Given the description of an element on the screen output the (x, y) to click on. 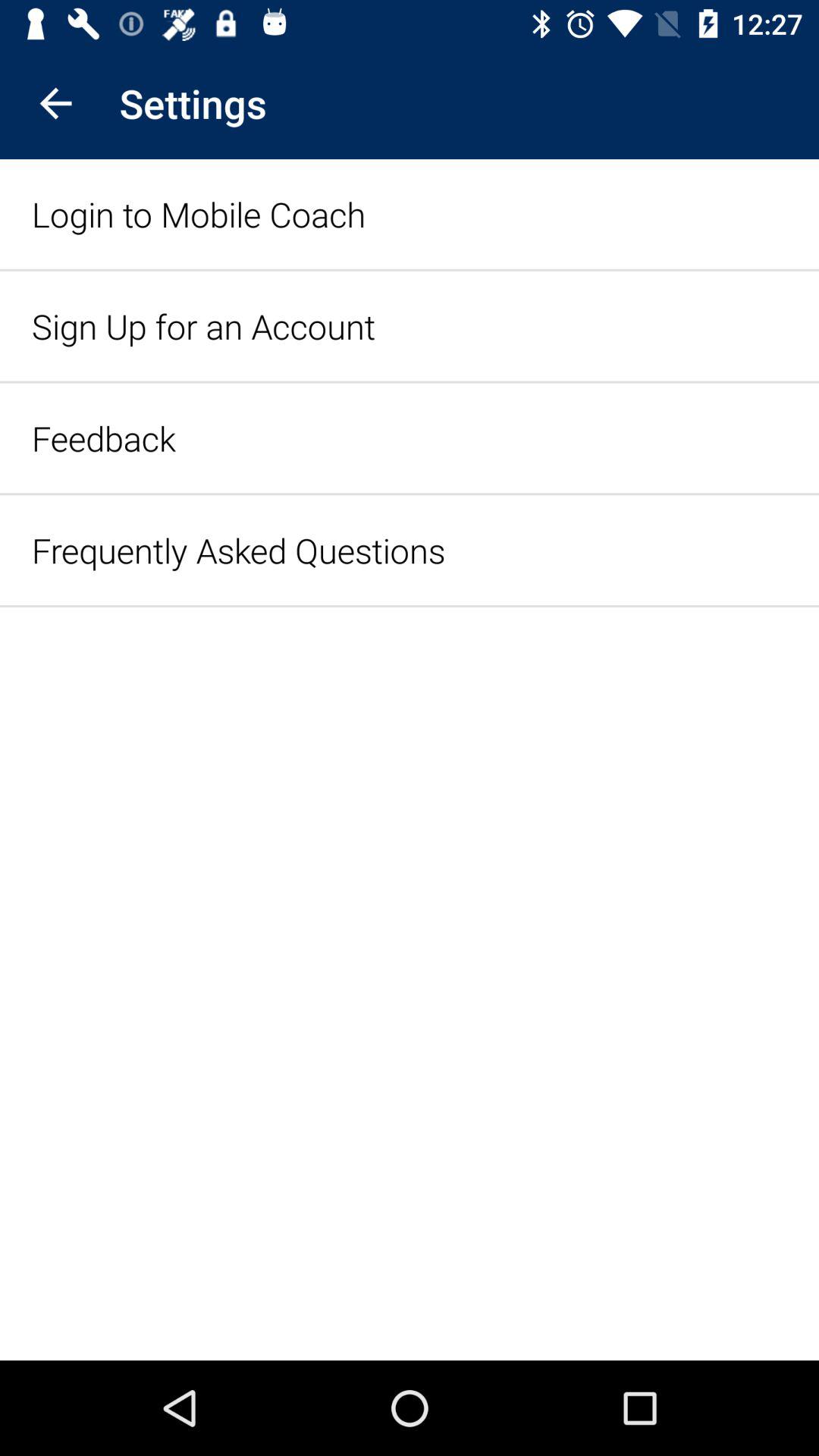
turn off the item above sign up for (198, 214)
